Given the description of an element on the screen output the (x, y) to click on. 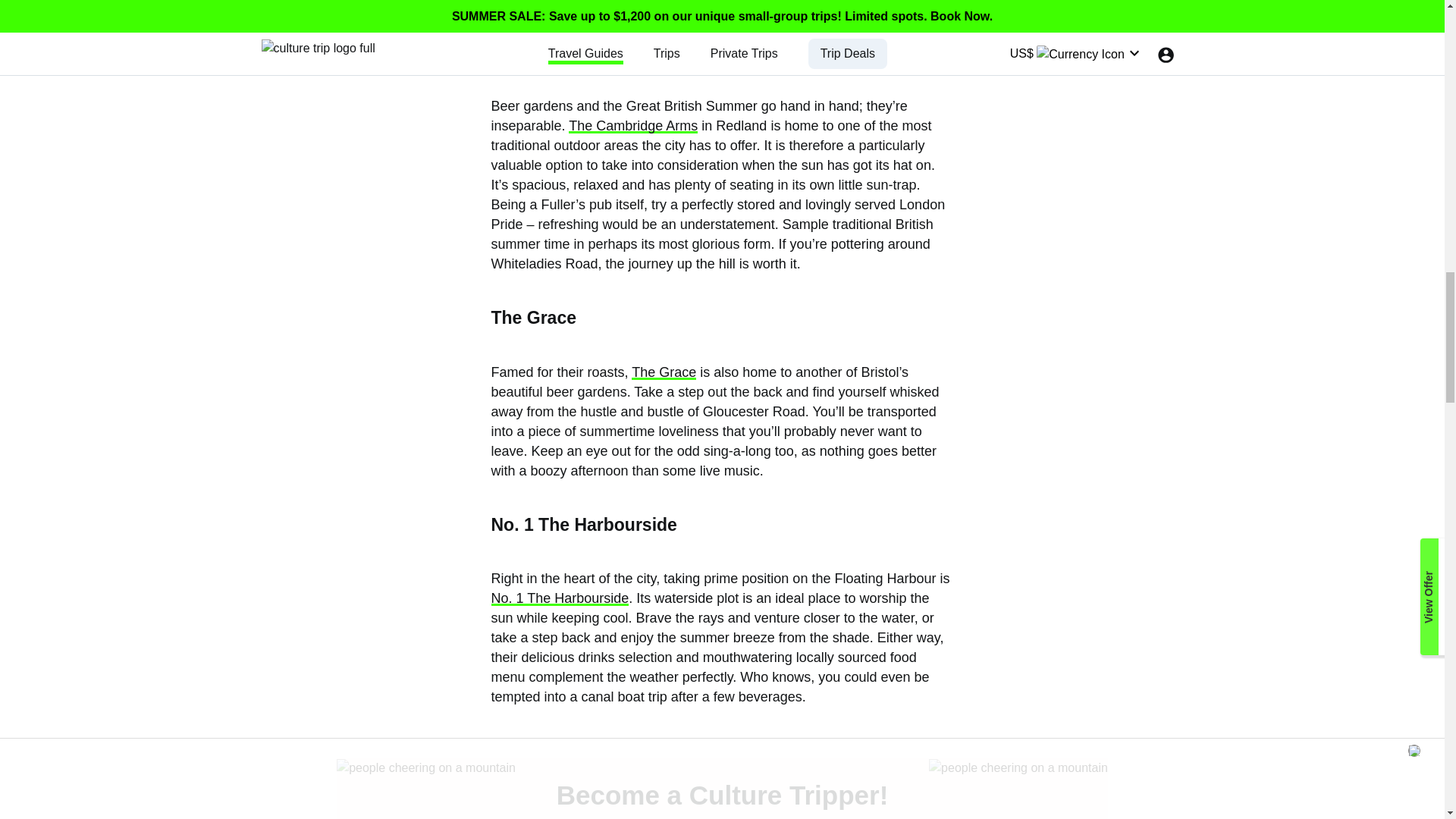
The Cambridge Arms (633, 125)
No. 1 The Harbourside (560, 598)
The Grace (663, 372)
